Given the description of an element on the screen output the (x, y) to click on. 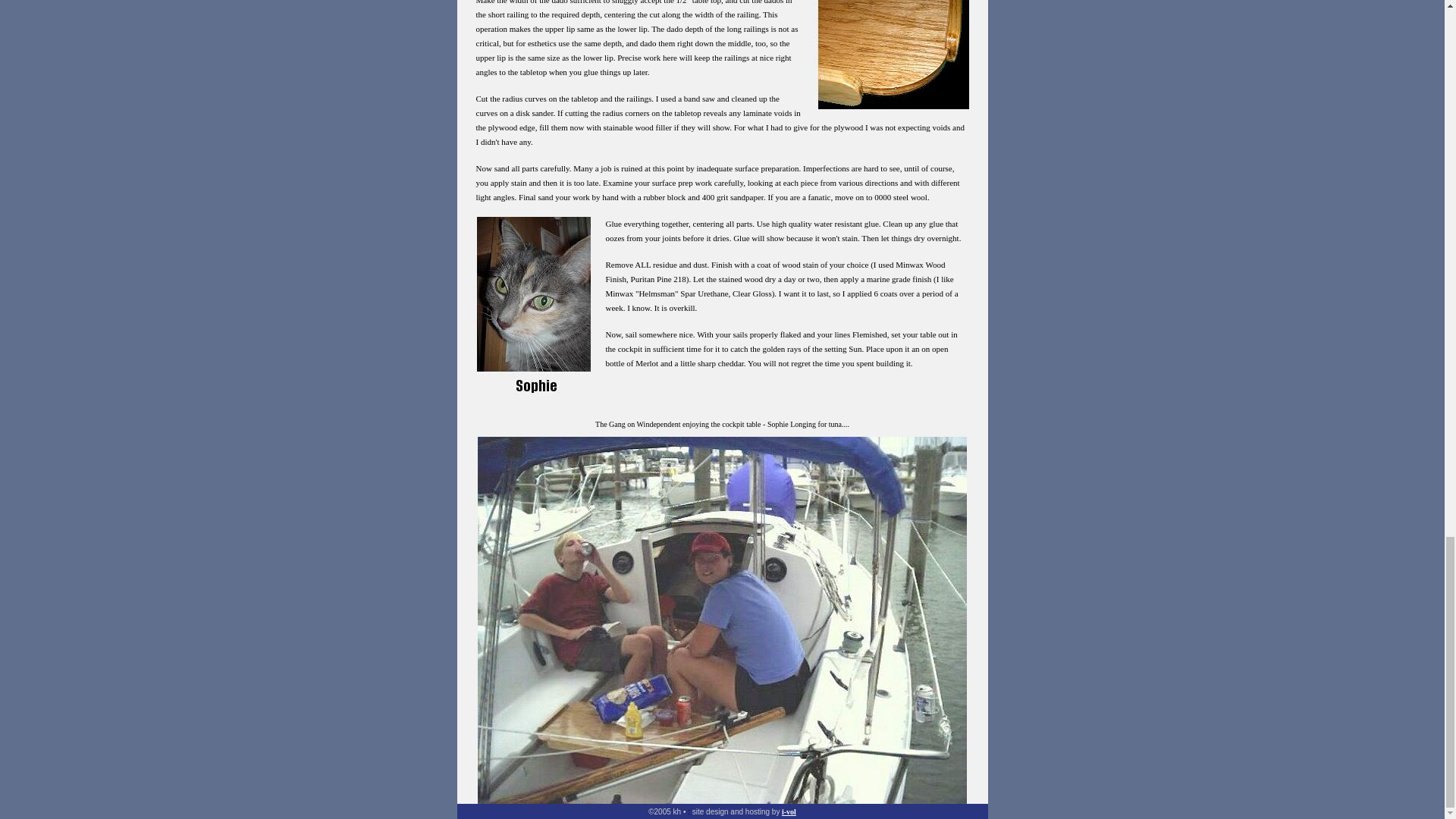
i-vol (788, 810)
